Given the description of an element on the screen output the (x, y) to click on. 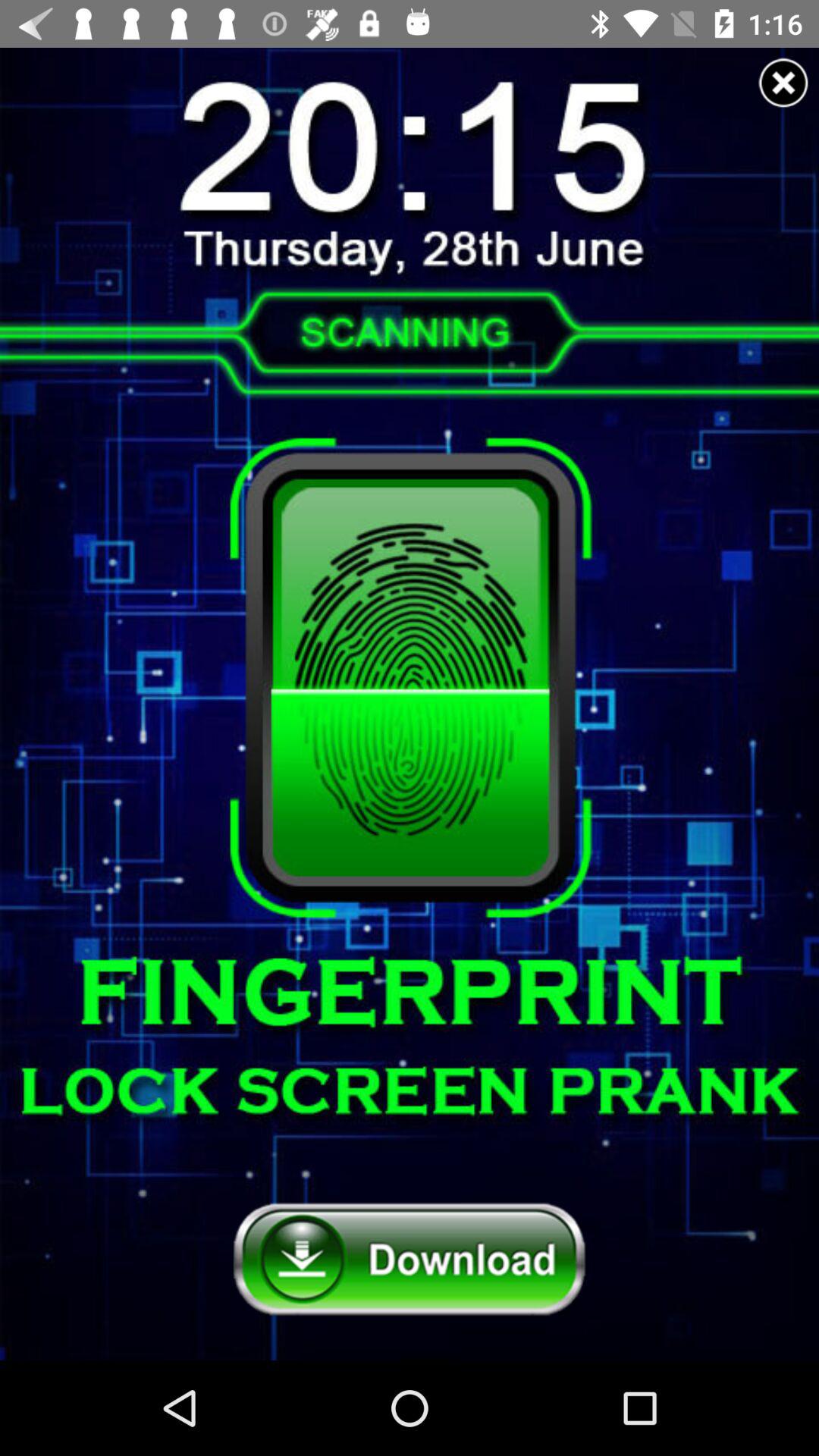
click close icon (783, 83)
